Given the description of an element on the screen output the (x, y) to click on. 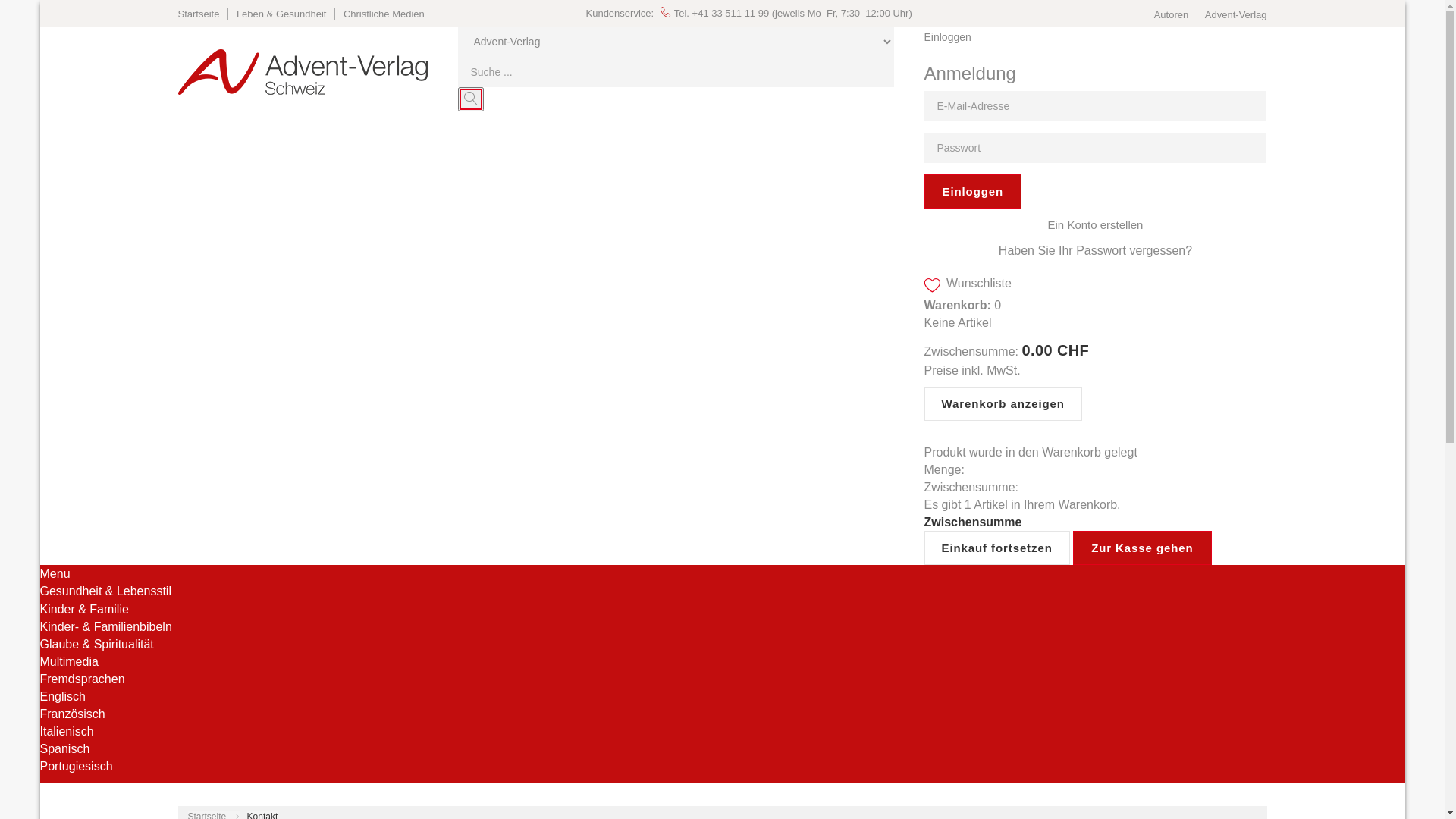
Warenkorb: 0 Element type: text (962, 304)
Multimedia Element type: text (68, 661)
Wunschliste Element type: text (966, 282)
Portugiesisch Element type: text (75, 765)
Spanisch Element type: text (64, 748)
Einloggen Element type: text (972, 191)
Ein Konto erstellen Element type: text (1095, 224)
Autoren Element type: text (1171, 14)
Advent-Verlag Element type: text (1235, 14)
Fremdsprachen Element type: text (81, 678)
Leben & Gesundheit Element type: text (285, 13)
Zur Kasse gehen Element type: text (1142, 547)
Christliche Medien Element type: text (388, 13)
Italienisch Element type: text (66, 730)
Haben Sie Ihr Passwort vergessen? Element type: text (1095, 250)
Einloggen Element type: text (1094, 37)
Advent-Verlag Element type: hover (301, 71)
Kinder- & Familienbibeln Element type: text (105, 626)
Englisch Element type: text (61, 696)
Warenkorb anzeigen Element type: text (1002, 403)
Gesundheit & Lebensstil Element type: text (104, 590)
Startseite Element type: text (202, 13)
Kinder & Familie Element type: text (83, 608)
